Given the description of an element on the screen output the (x, y) to click on. 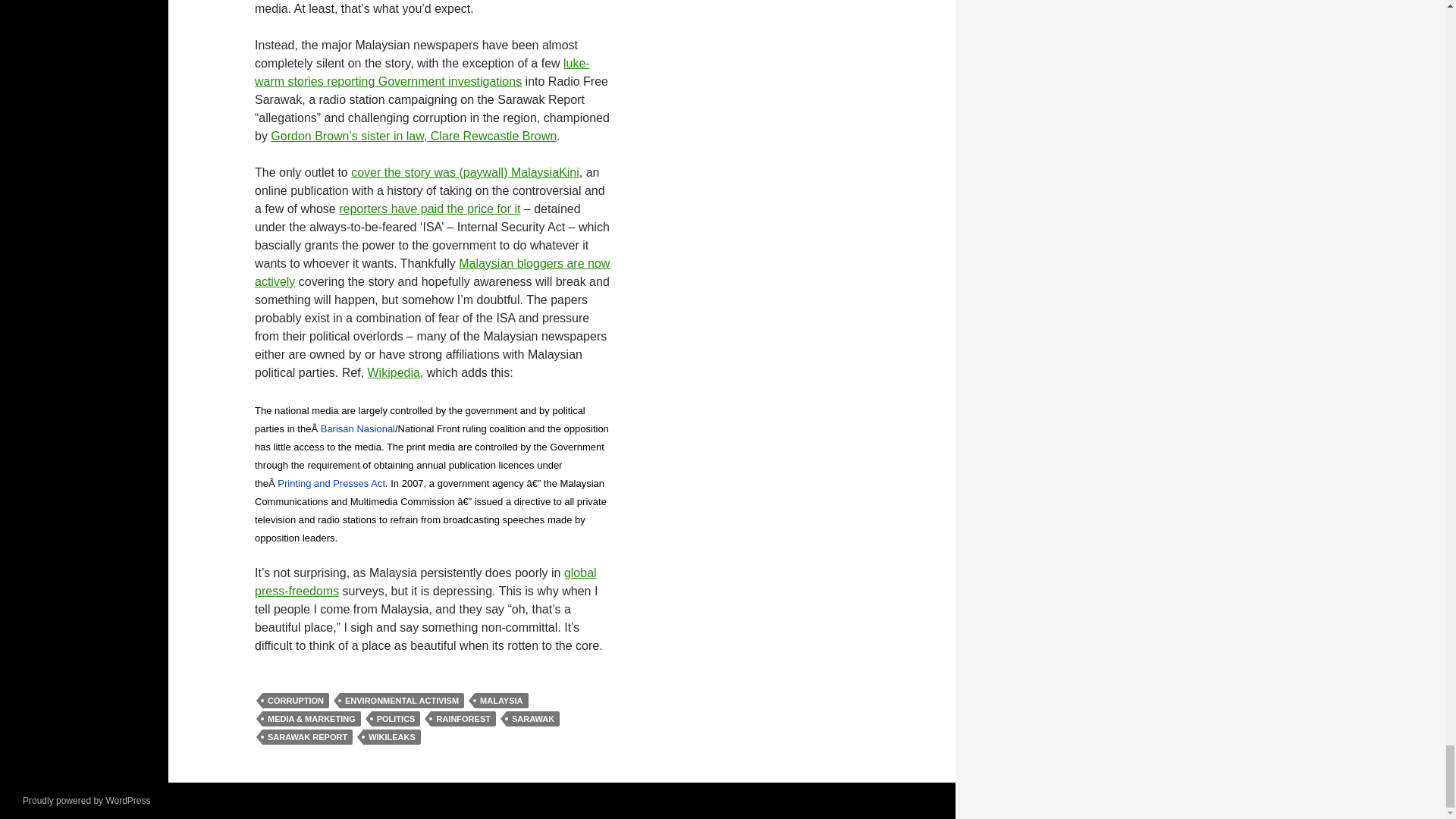
Printing and Presses Act (331, 482)
